Given the description of an element on the screen output the (x, y) to click on. 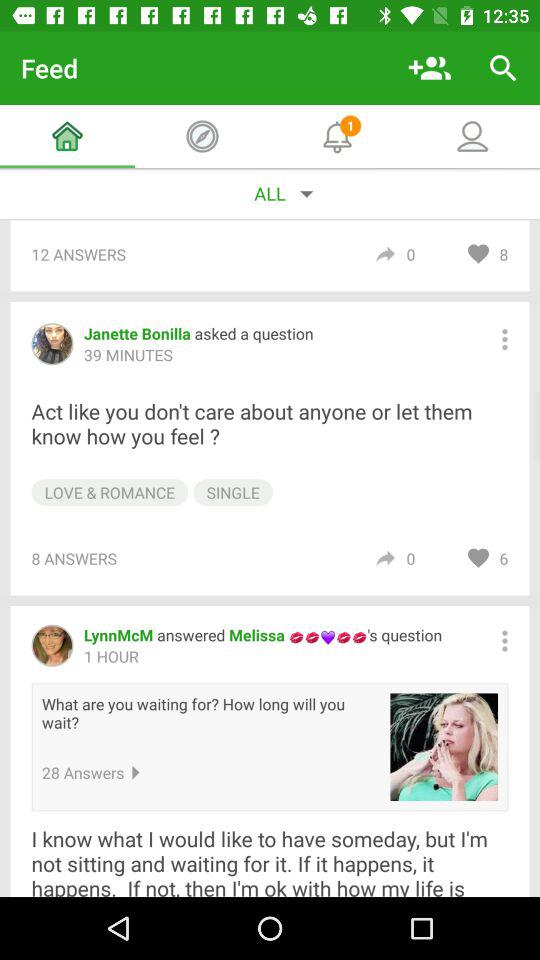
tap the item to the right of what are you item (443, 747)
